Given the description of an element on the screen output the (x, y) to click on. 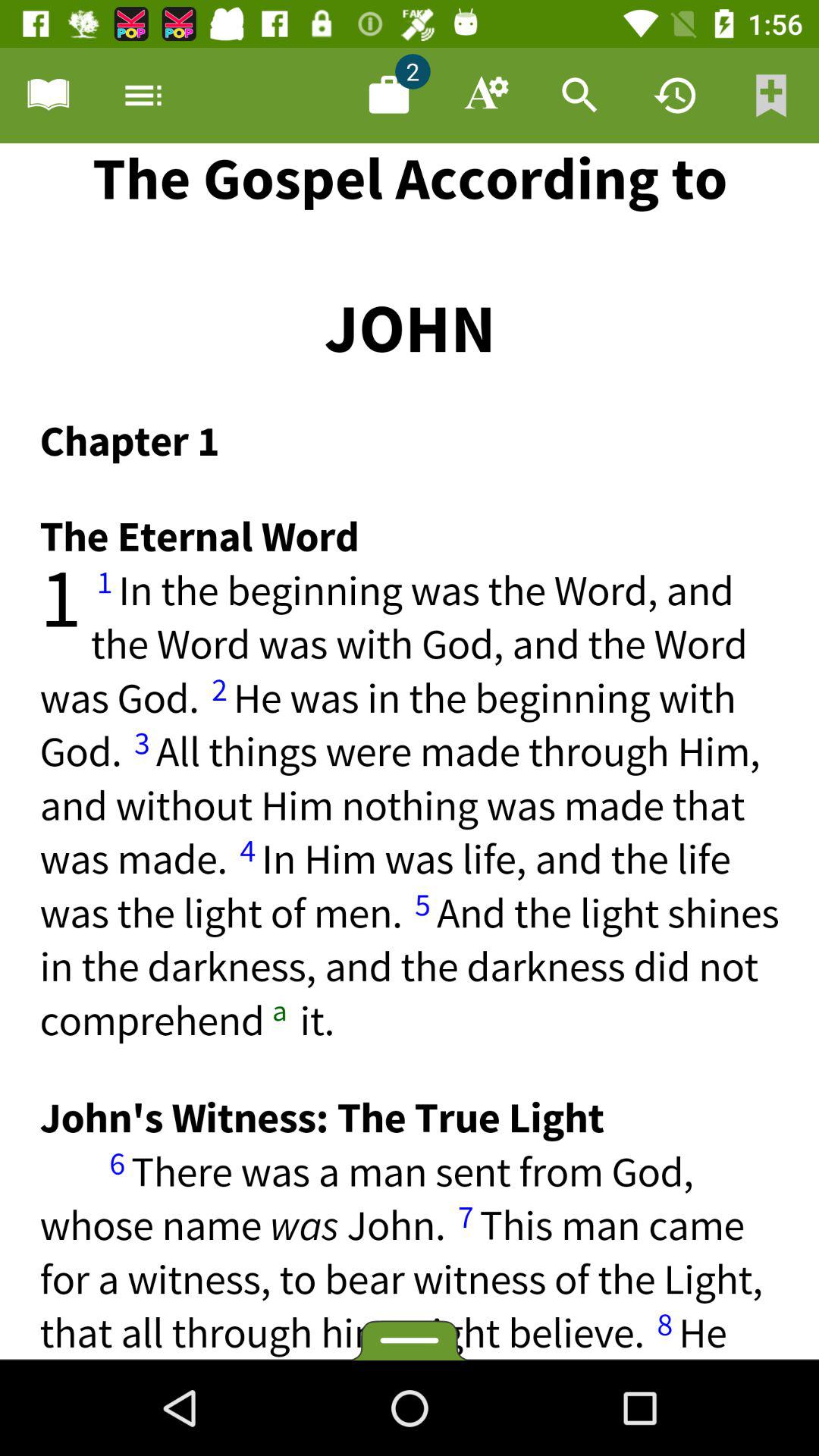
bookmark (771, 95)
